Given the description of an element on the screen output the (x, y) to click on. 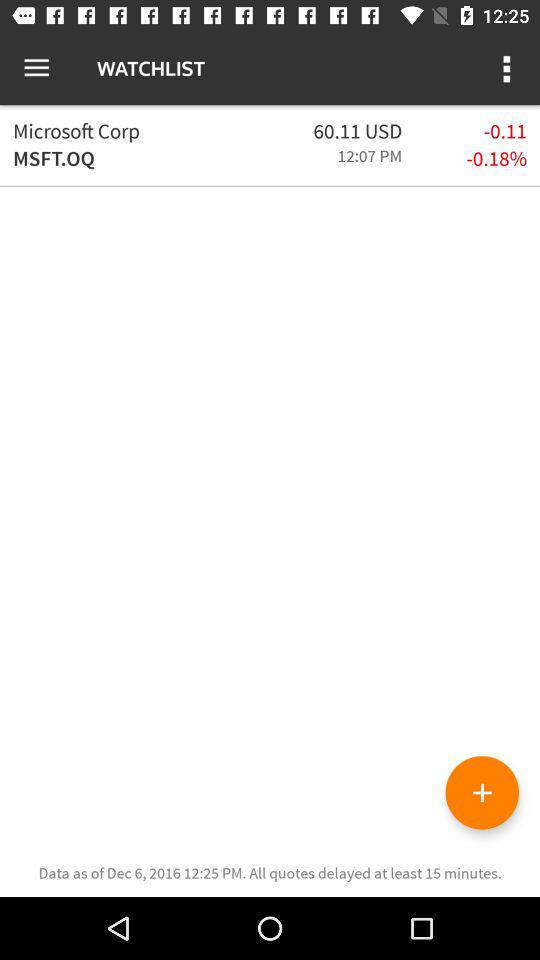
add to watchlist (482, 792)
